Given the description of an element on the screen output the (x, y) to click on. 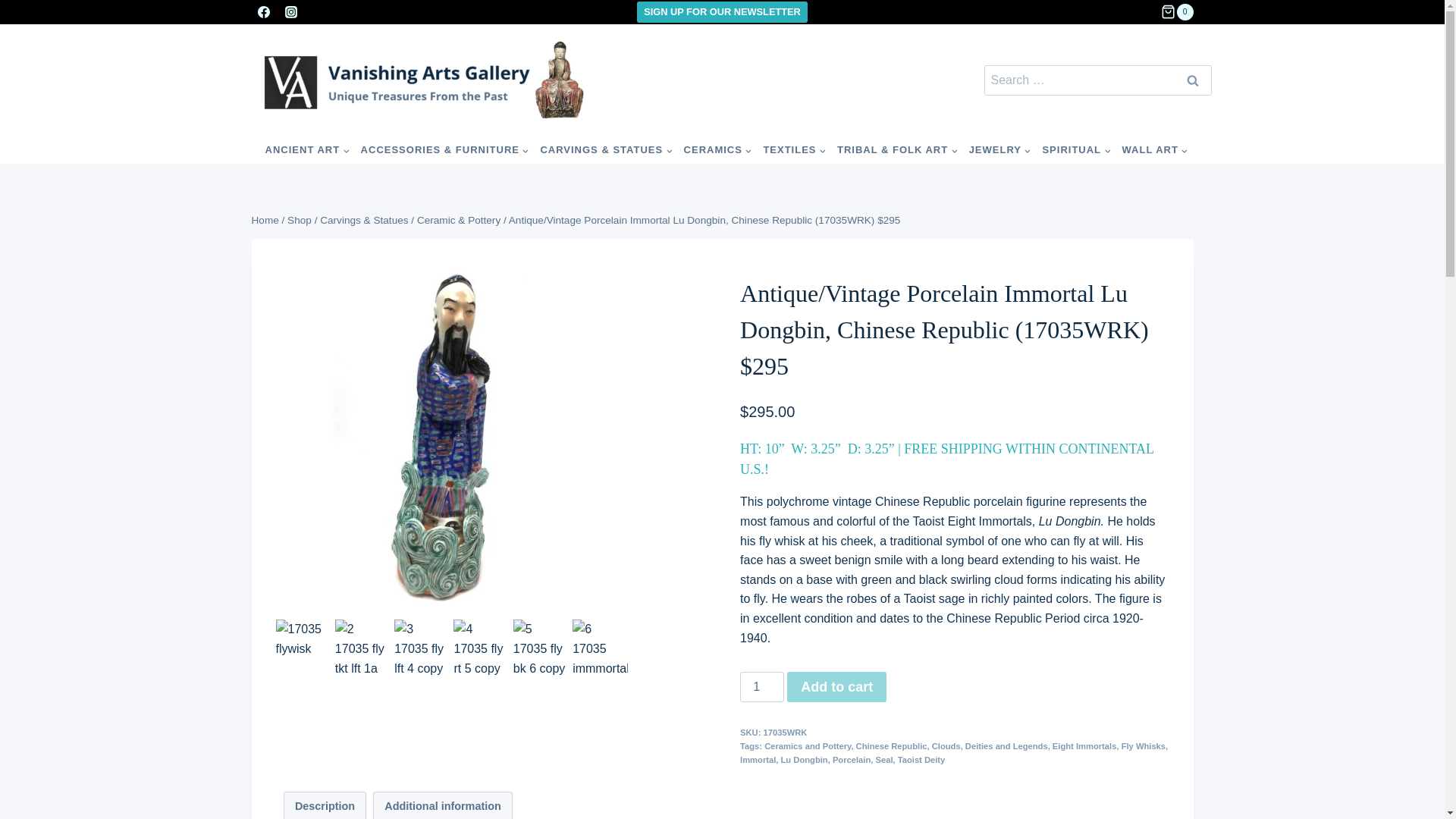
Search (1192, 80)
JEWELRY (999, 149)
Search (1192, 80)
17035 flywisk (452, 438)
SIGN UP FOR OUR NEWSLETTER (722, 11)
TEXTILES (794, 149)
Search (1192, 80)
ANCIENT ART (307, 149)
0 (1176, 12)
1 (761, 686)
